Given the description of an element on the screen output the (x, y) to click on. 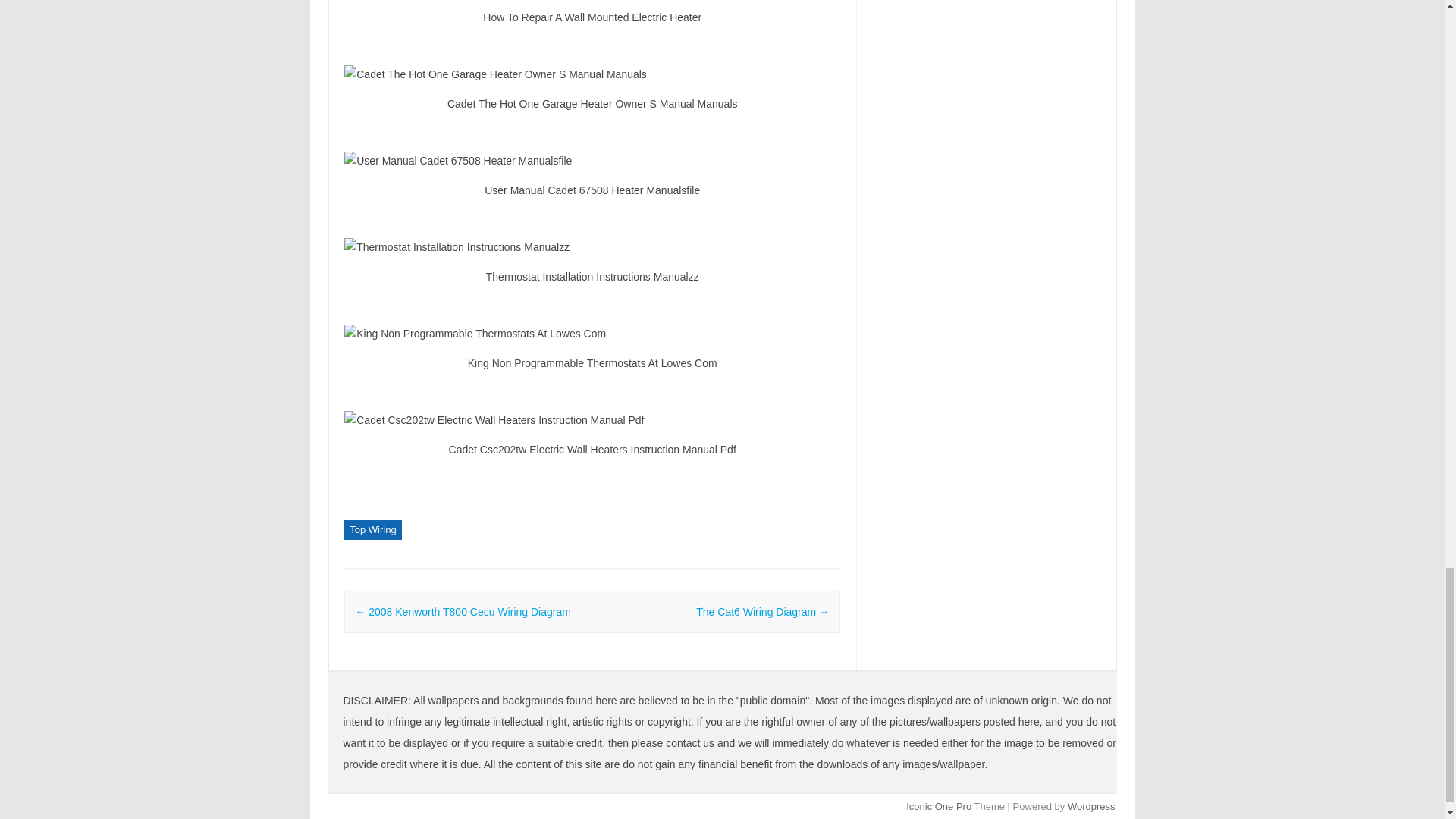
Cadet The Hot One Garage Heater Owner S Manual Manuals (591, 74)
Top Wiring (372, 529)
